Given the description of an element on the screen output the (x, y) to click on. 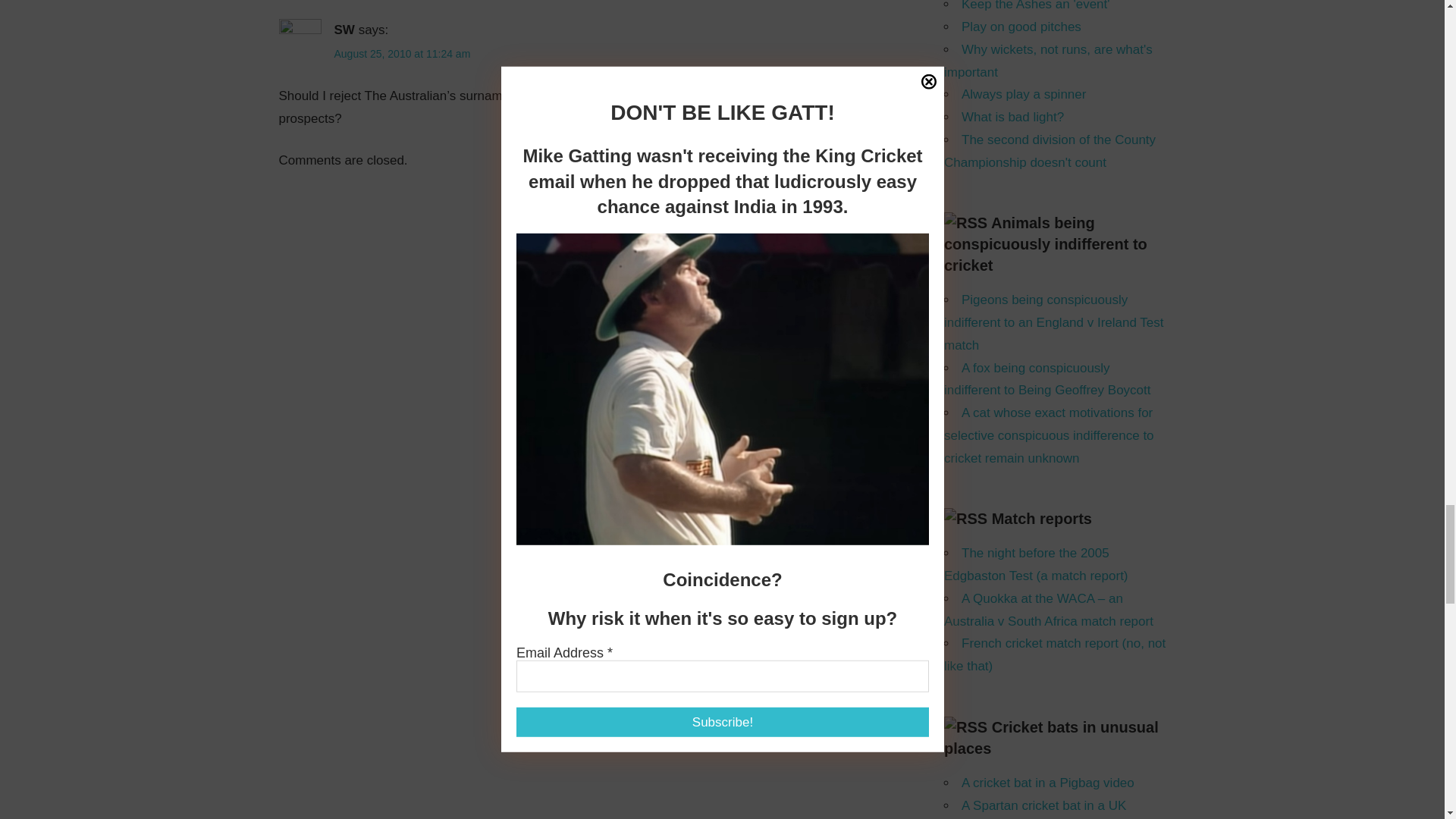
August 25, 2010 at 11:24 am (401, 53)
